Given the description of an element on the screen output the (x, y) to click on. 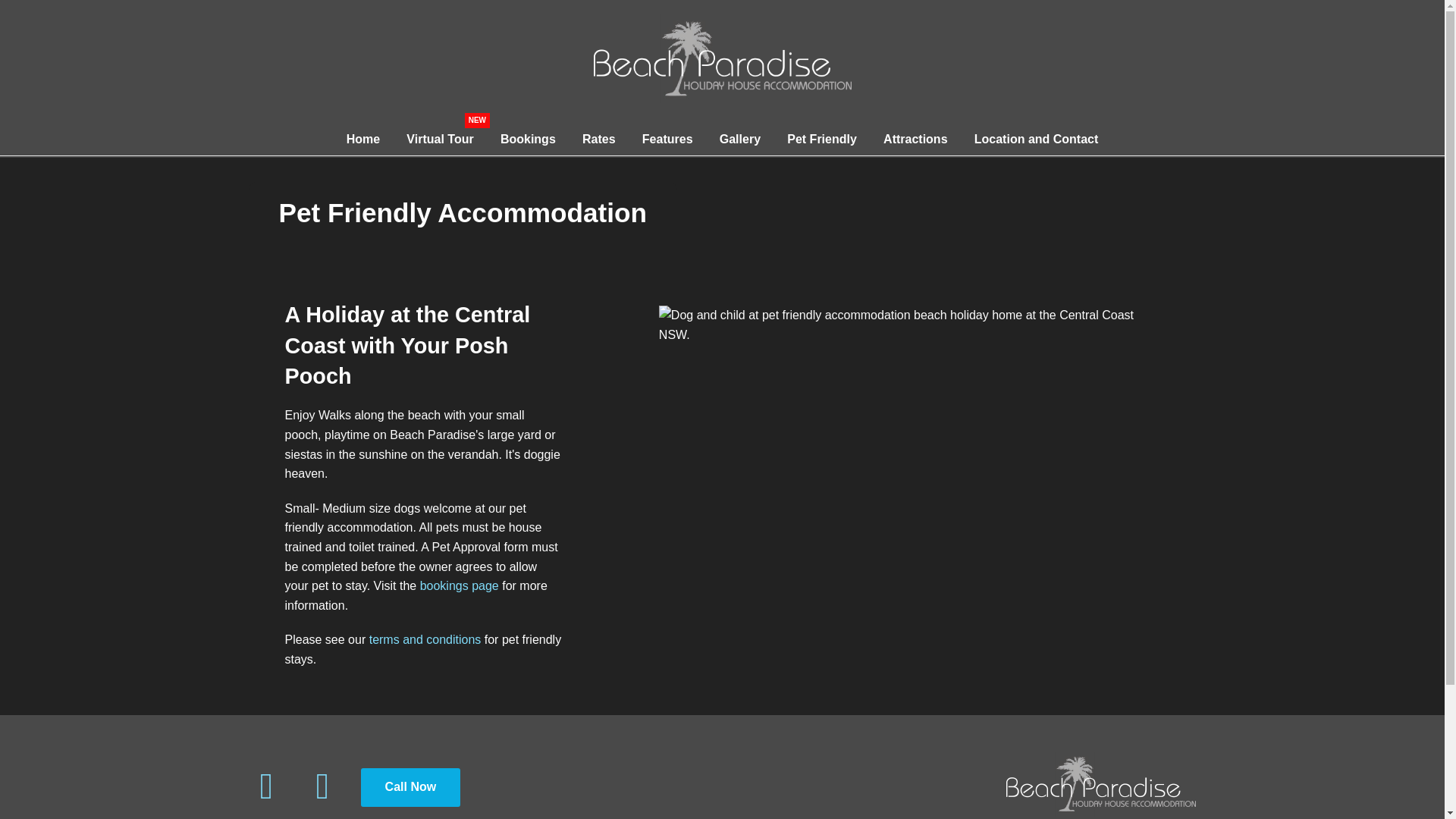
Pet Friendly (821, 139)
Call Now (411, 787)
Rates (598, 139)
Location and Contact (1035, 139)
Virtual Tour (439, 139)
terms and conditions (425, 639)
Attractions (915, 139)
Home (362, 139)
Features (666, 139)
Bookings (527, 139)
Gallery (739, 139)
bookings page (459, 585)
